Given the description of an element on the screen output the (x, y) to click on. 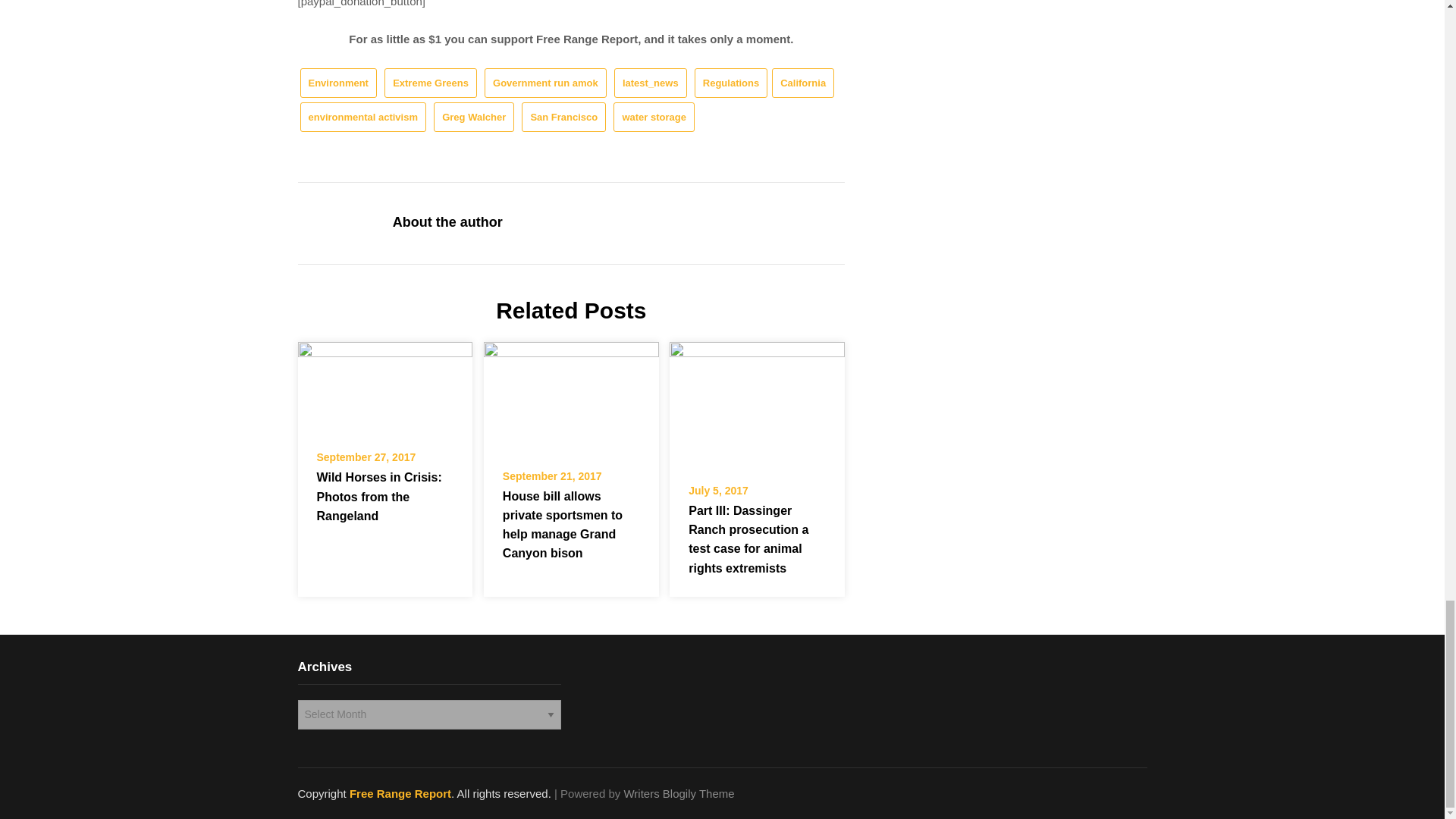
environmental activism (362, 116)
Wild Horses in Crisis: Photos from the Rangeland (379, 495)
Wild Horses in Crisis: Photos from the Rangeland (384, 386)
Environment (338, 82)
Regulations (730, 82)
Extreme Greens (430, 82)
Free Range Report (400, 793)
water storage (653, 116)
San Francisco (563, 116)
Government run amok (545, 82)
Greg Walcher (473, 116)
